Given the description of an element on the screen output the (x, y) to click on. 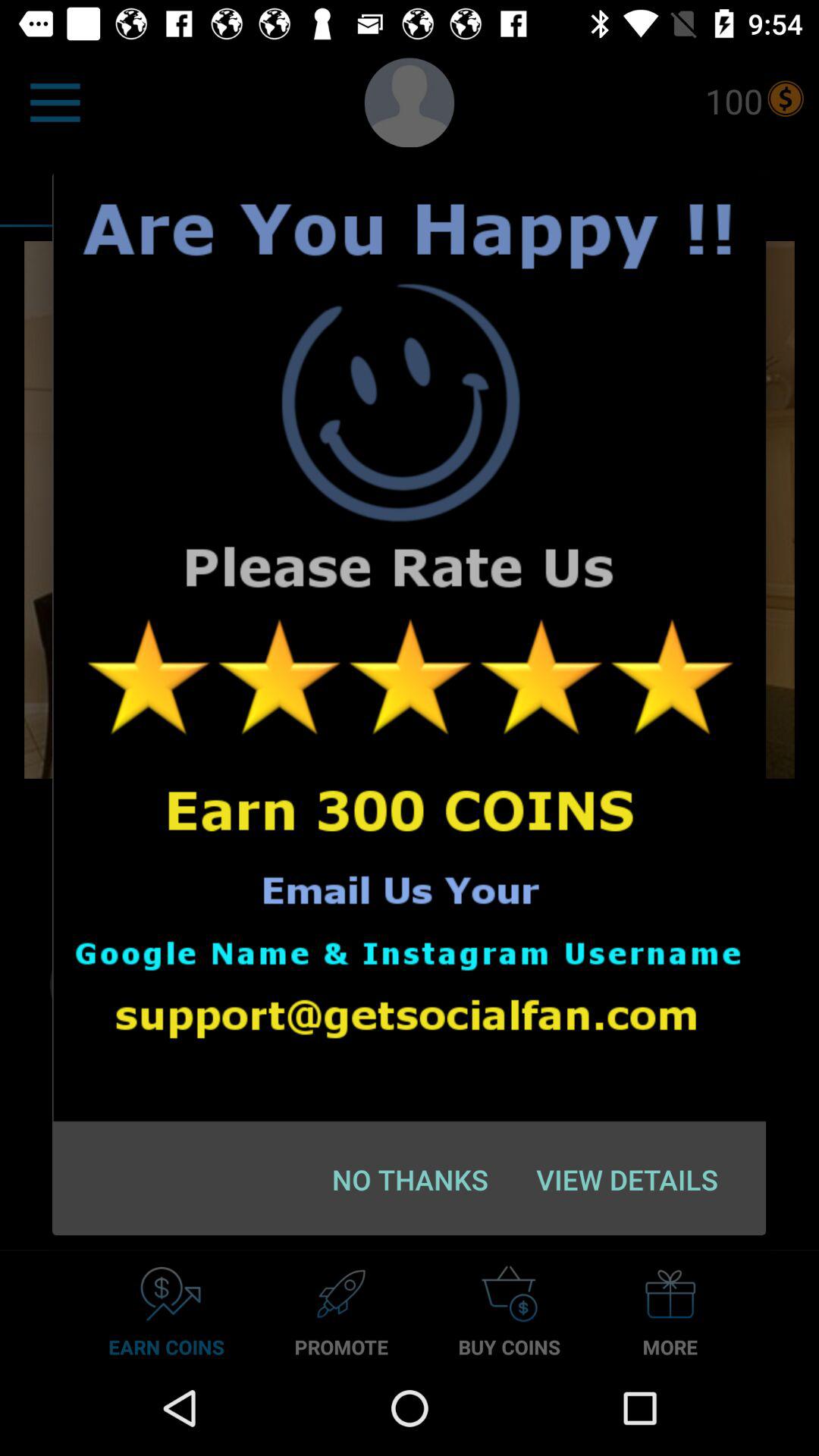
swipe until the no thanks icon (410, 1179)
